Given the description of an element on the screen output the (x, y) to click on. 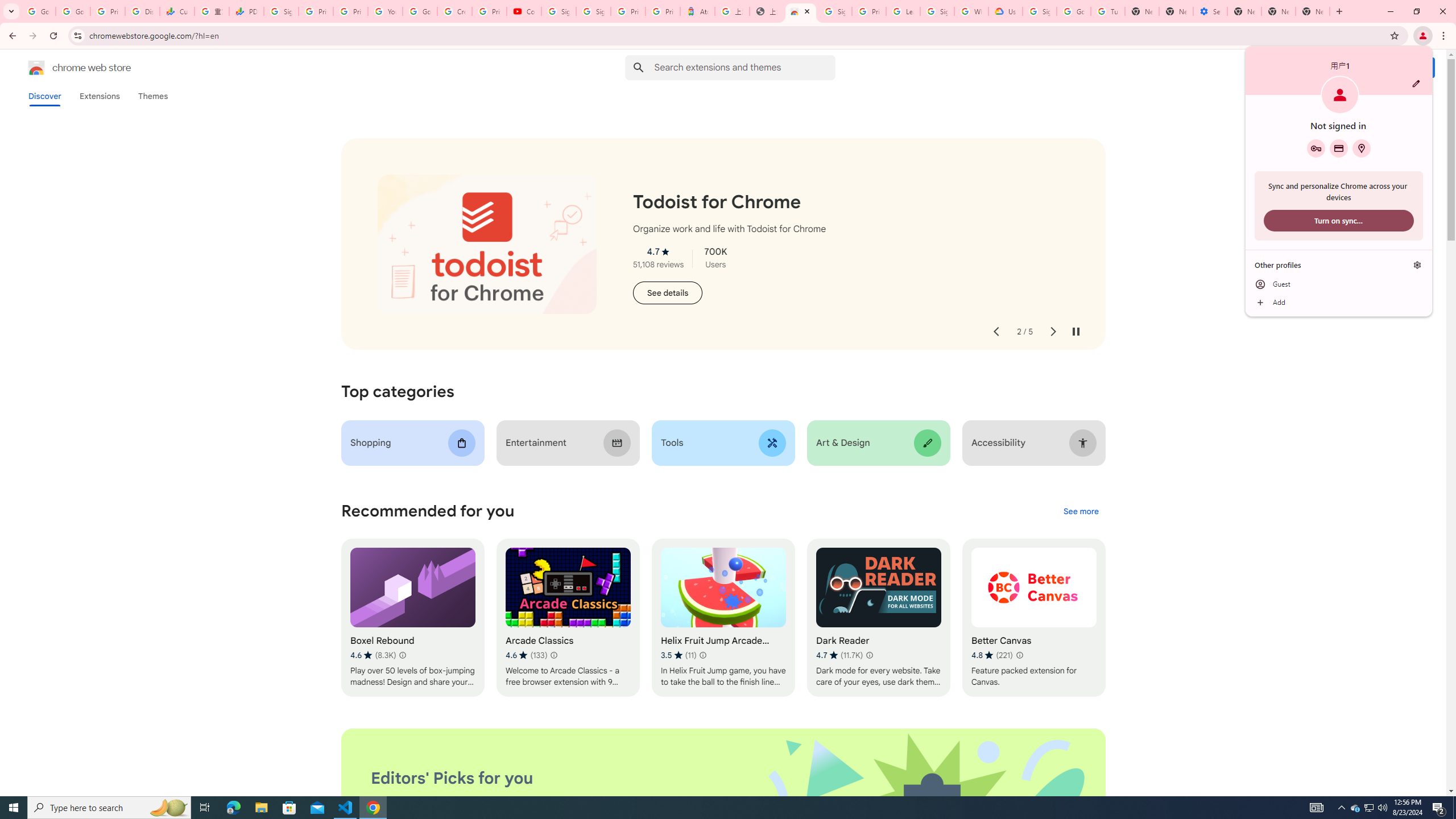
Google Chrome - 1 running window (373, 807)
Google Account Help (1073, 11)
Art & Design (878, 443)
Previous slide (995, 331)
Learn more about results and reviews "Dark Reader" (869, 655)
Sign in - Google Accounts (557, 11)
Start (13, 807)
Settings - Addresses and more (1209, 11)
Extensions (99, 95)
Sign in - Google Accounts (281, 11)
Microsoft Store (289, 807)
